Given the description of an element on the screen output the (x, y) to click on. 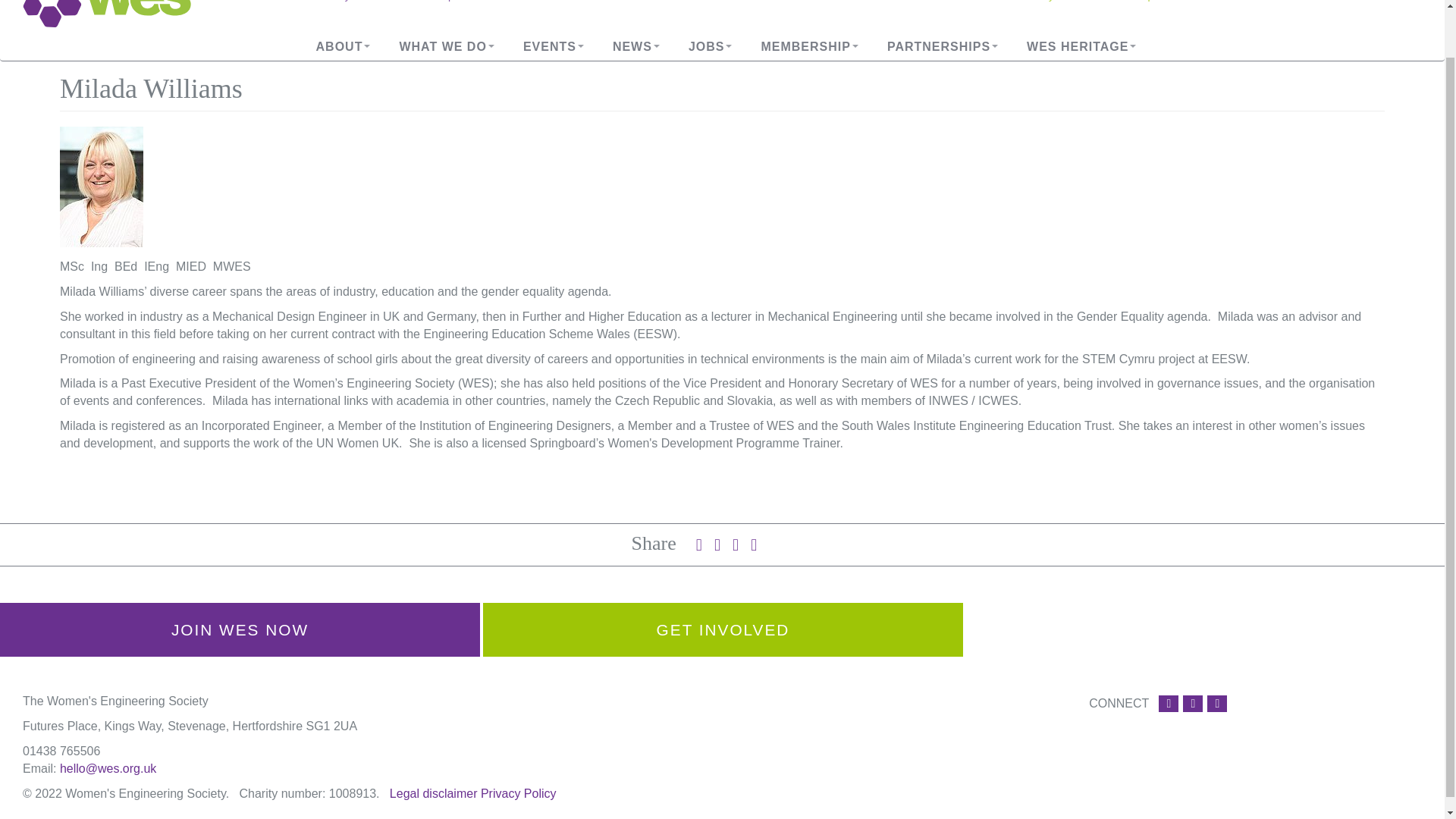
Centenary (1078, 46)
Home (119, 13)
